Given the description of an element on the screen output the (x, y) to click on. 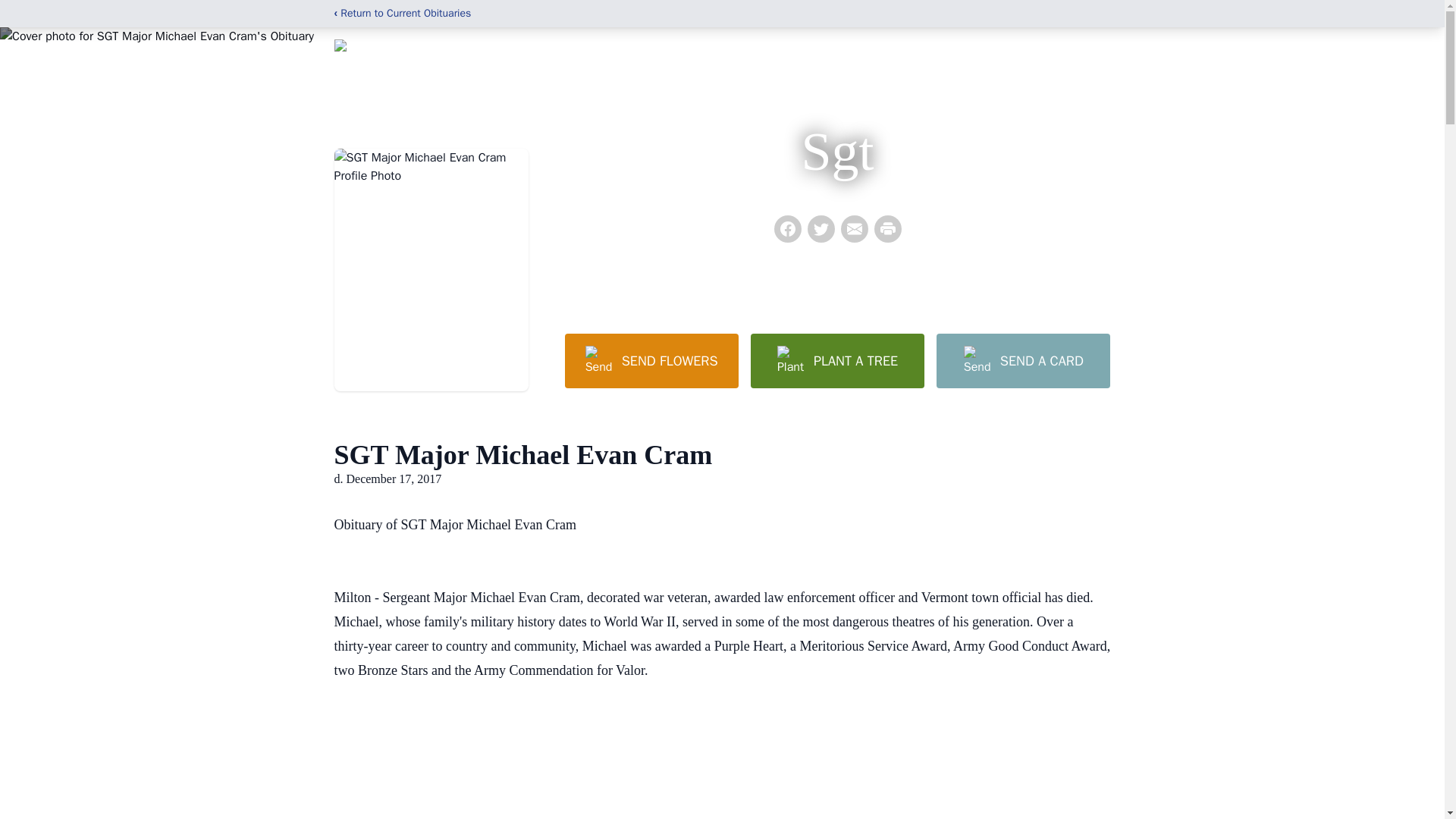
PLANT A TREE (837, 360)
SEND A CARD (1022, 360)
SEND FLOWERS (651, 360)
